Given the description of an element on the screen output the (x, y) to click on. 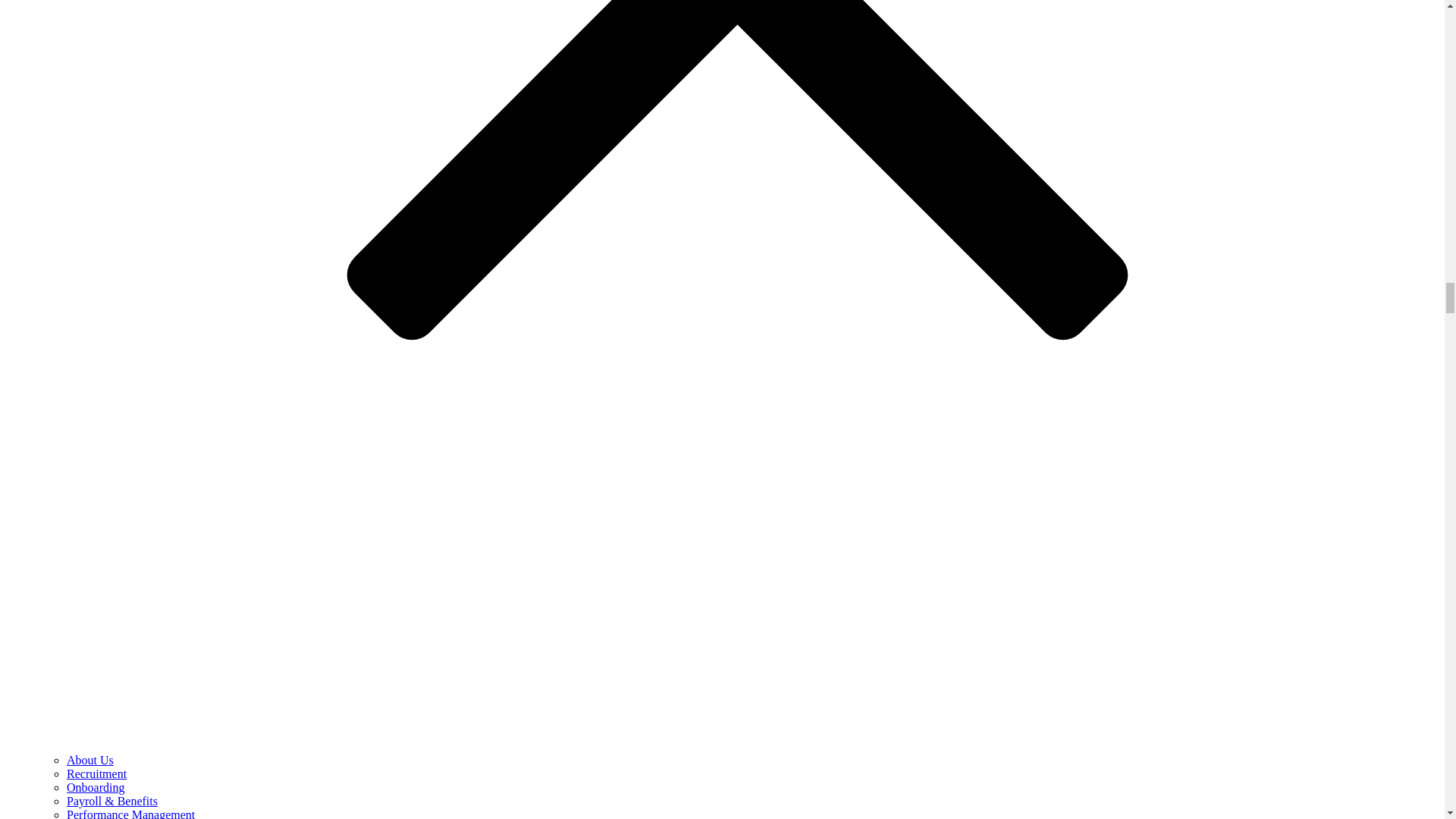
Recruitment (96, 773)
Performance Management (130, 813)
About Us (89, 759)
Onboarding (94, 787)
